Given the description of an element on the screen output the (x, y) to click on. 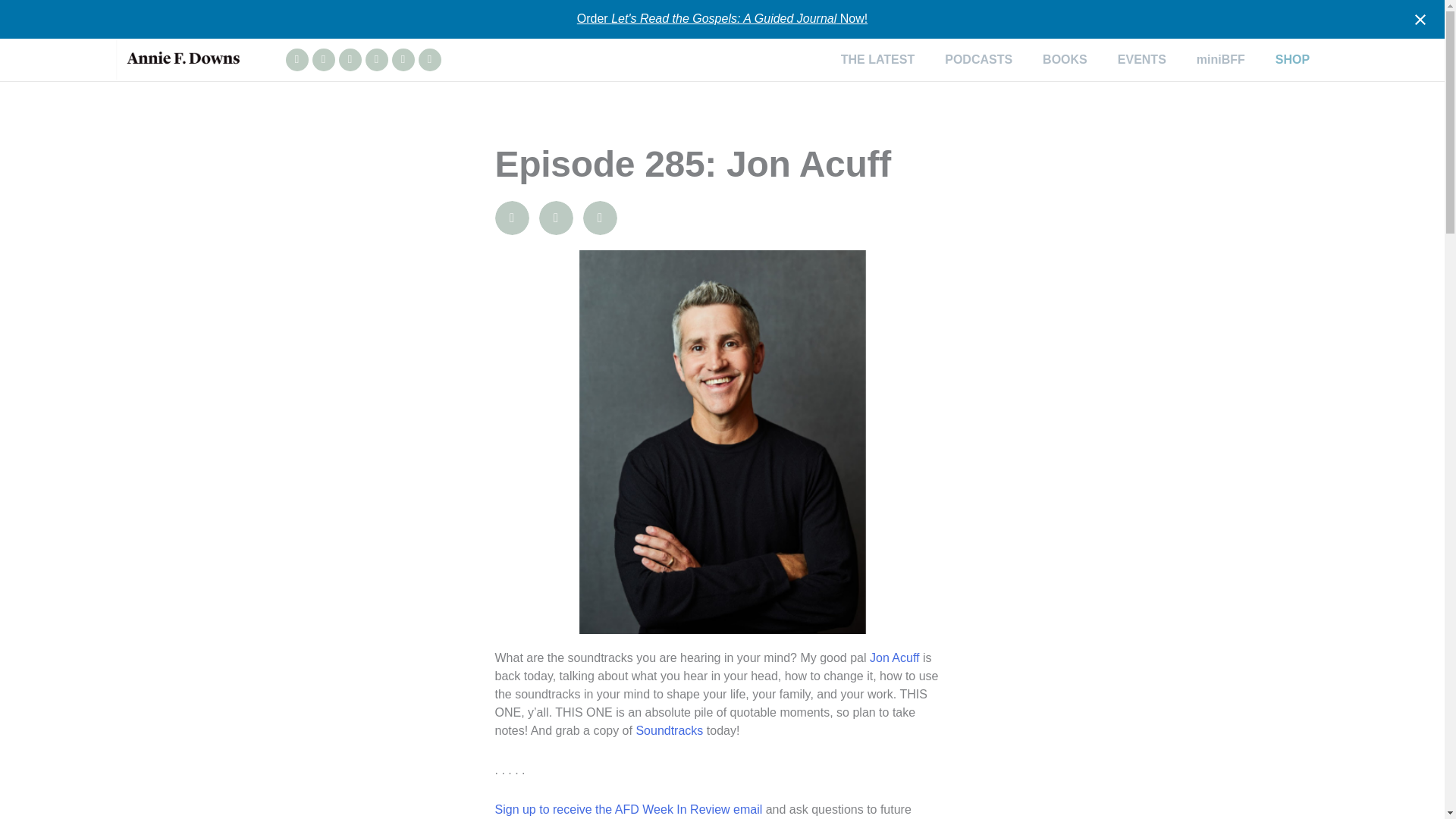
Instagram (296, 59)
BOOKS (1064, 59)
Twitter (402, 59)
Tiktok (376, 59)
PODCASTS (978, 59)
SHOP (1292, 59)
miniBFF (1220, 59)
Order Let's Read the Gospels: A Guided Journal Now! (721, 18)
THE LATEST (877, 59)
Facebook (323, 59)
Pinterest (430, 59)
EVENTS (1141, 59)
Youtube (349, 59)
